Given the description of an element on the screen output the (x, y) to click on. 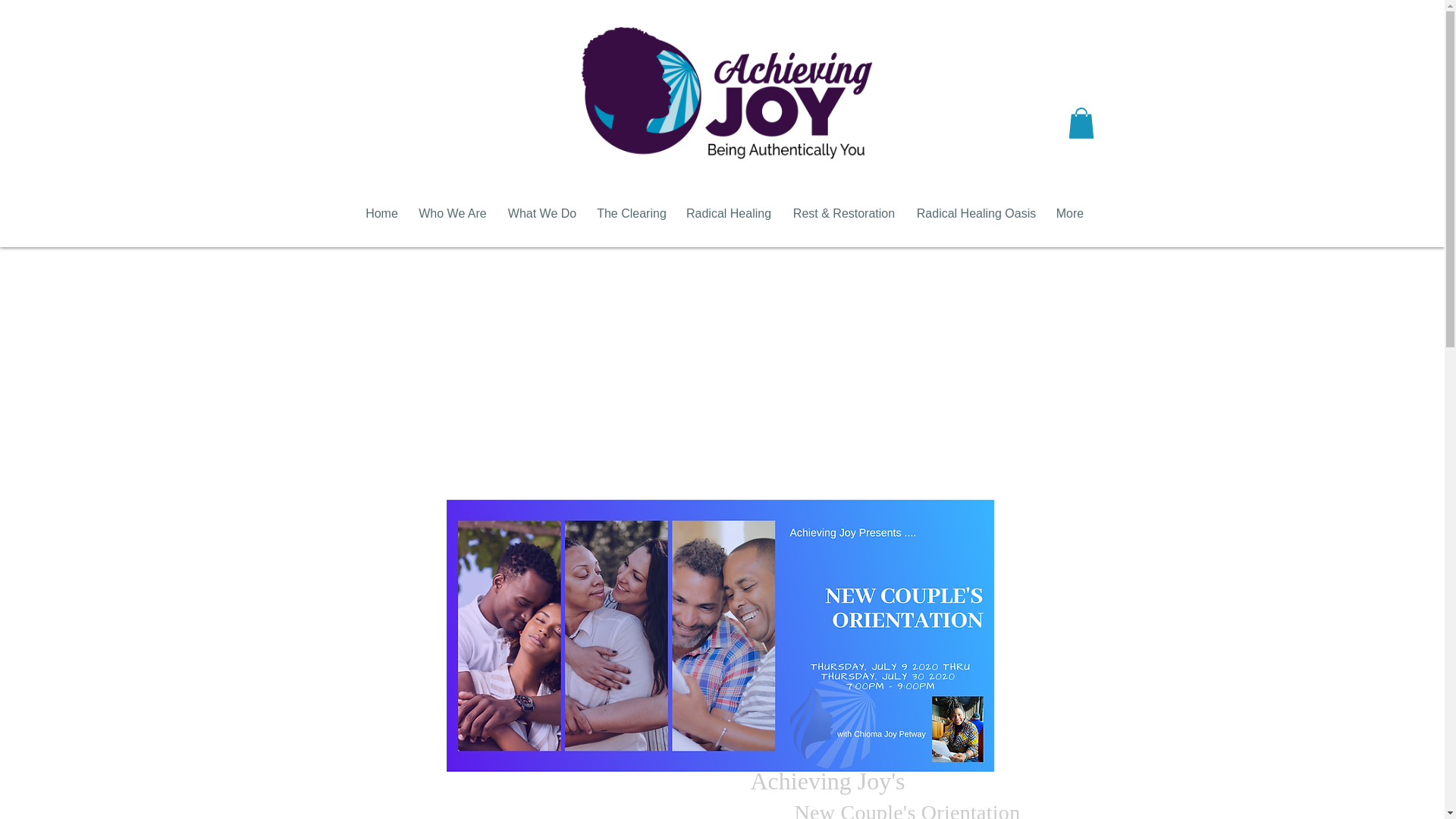
Radical Healing (729, 213)
The Clearing (630, 213)
Home (381, 213)
Who We Are (451, 213)
What We Do (542, 213)
Radical Healing Oasis (976, 213)
